Given the description of an element on the screen output the (x, y) to click on. 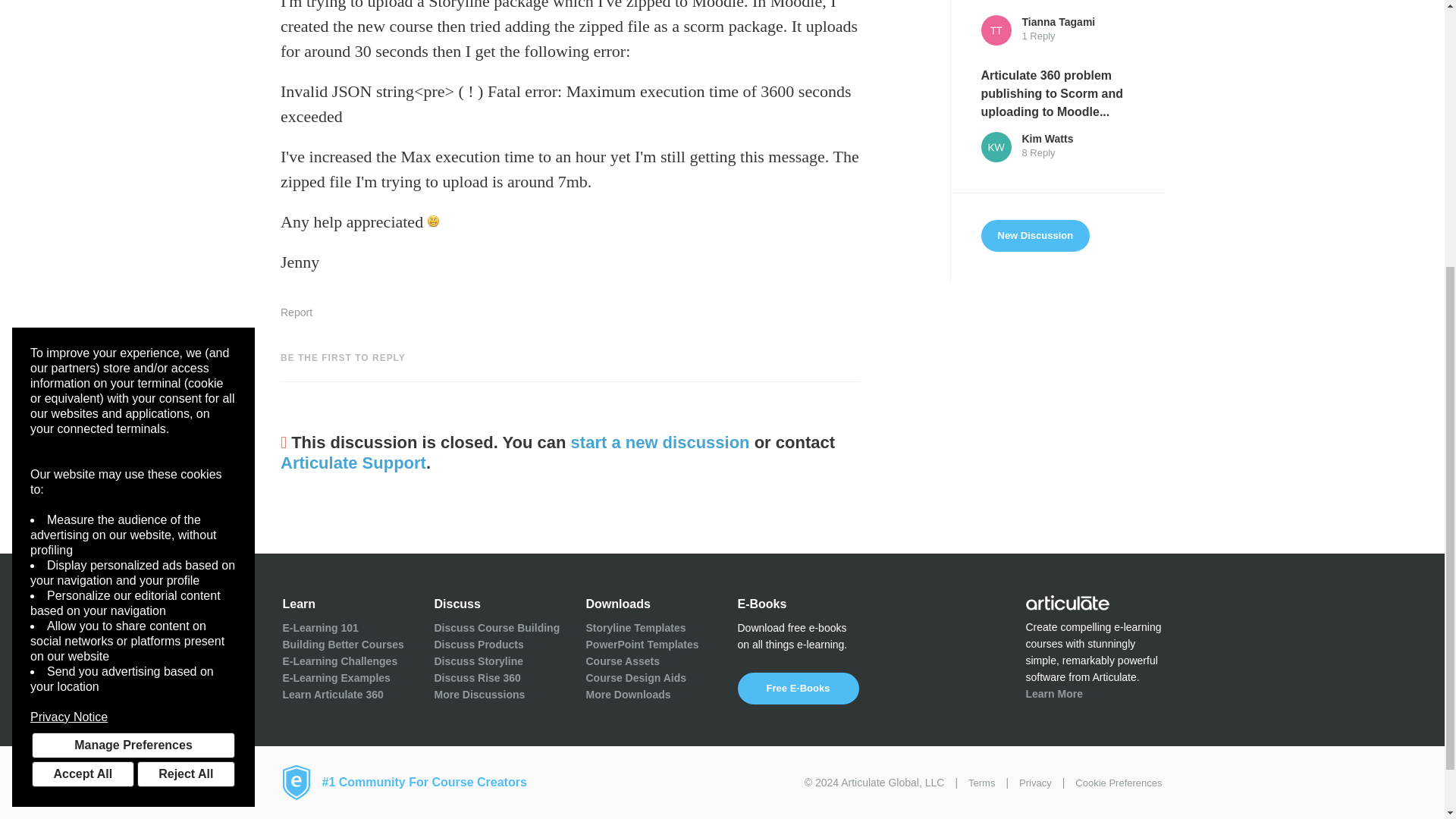
Reject All (185, 356)
Tianna Tagami (996, 30)
Accept All (82, 356)
Manage Preferences (133, 328)
Privacy Notice (132, 299)
Kim Watts (996, 146)
